Given the description of an element on the screen output the (x, y) to click on. 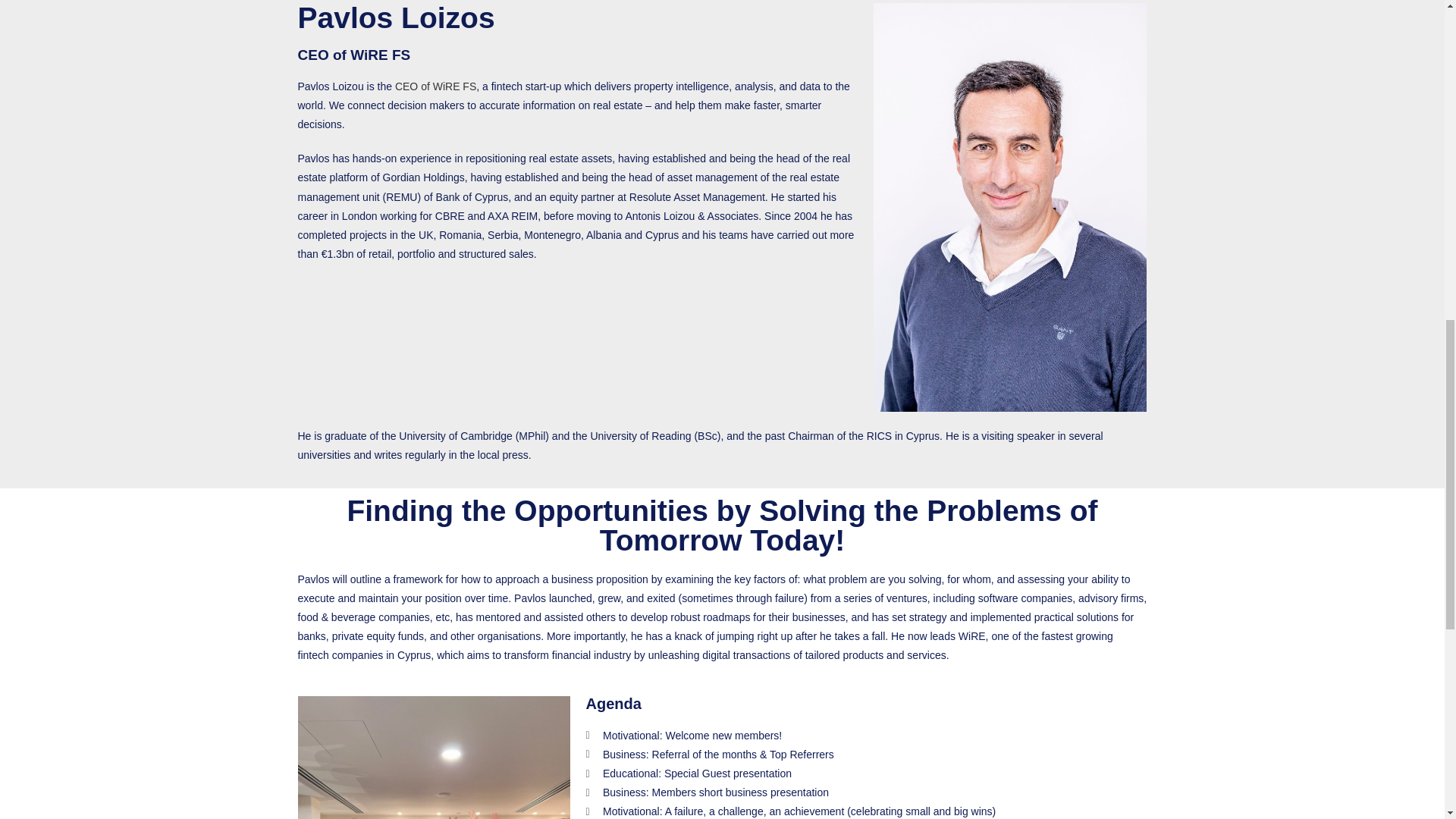
CEO of WiRE FS (353, 54)
CEO of WiRE FS (435, 86)
